Given the description of an element on the screen output the (x, y) to click on. 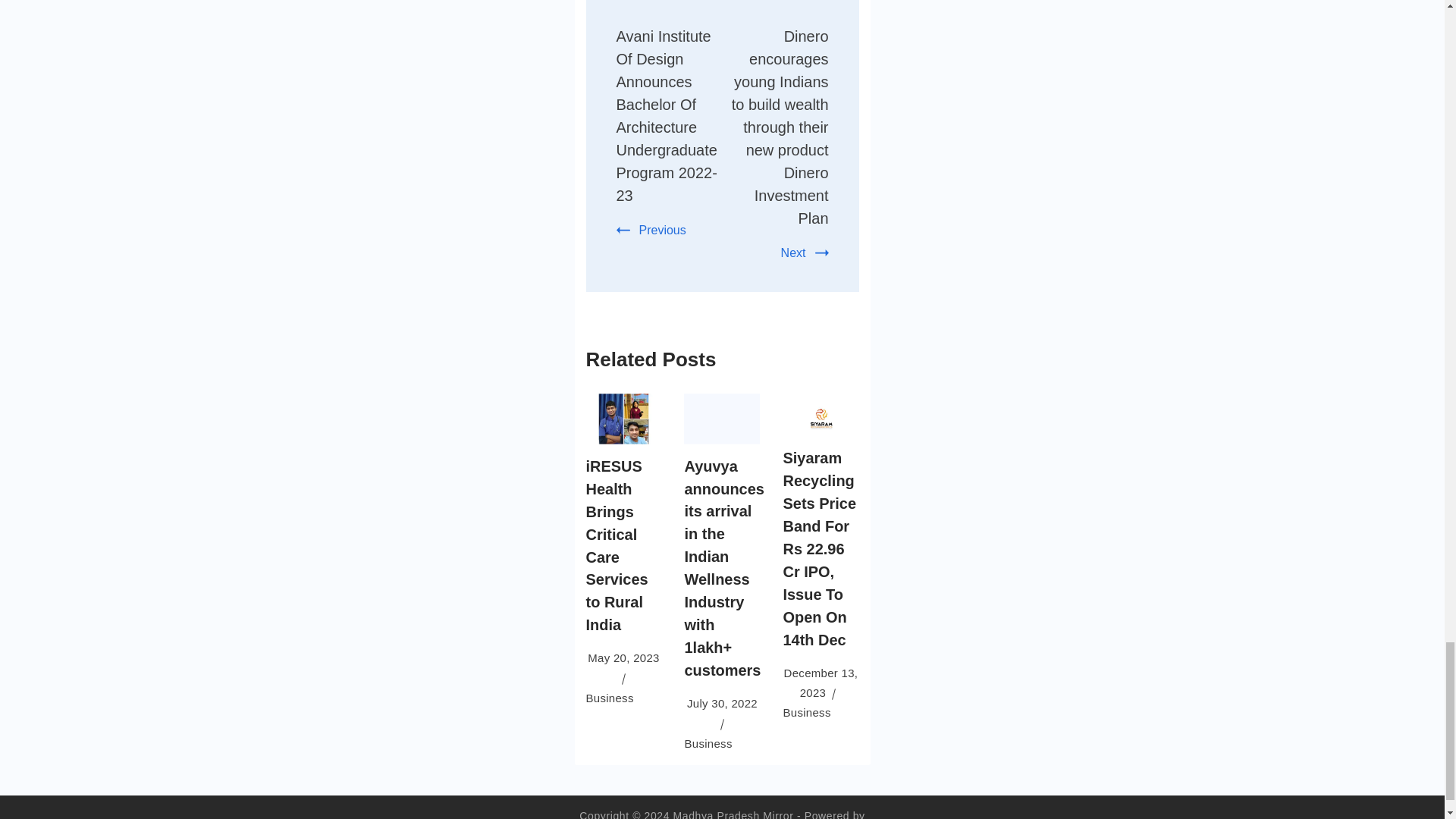
Business (609, 697)
Business (708, 743)
Previous (650, 229)
Next (804, 252)
Business (806, 712)
